Given the description of an element on the screen output the (x, y) to click on. 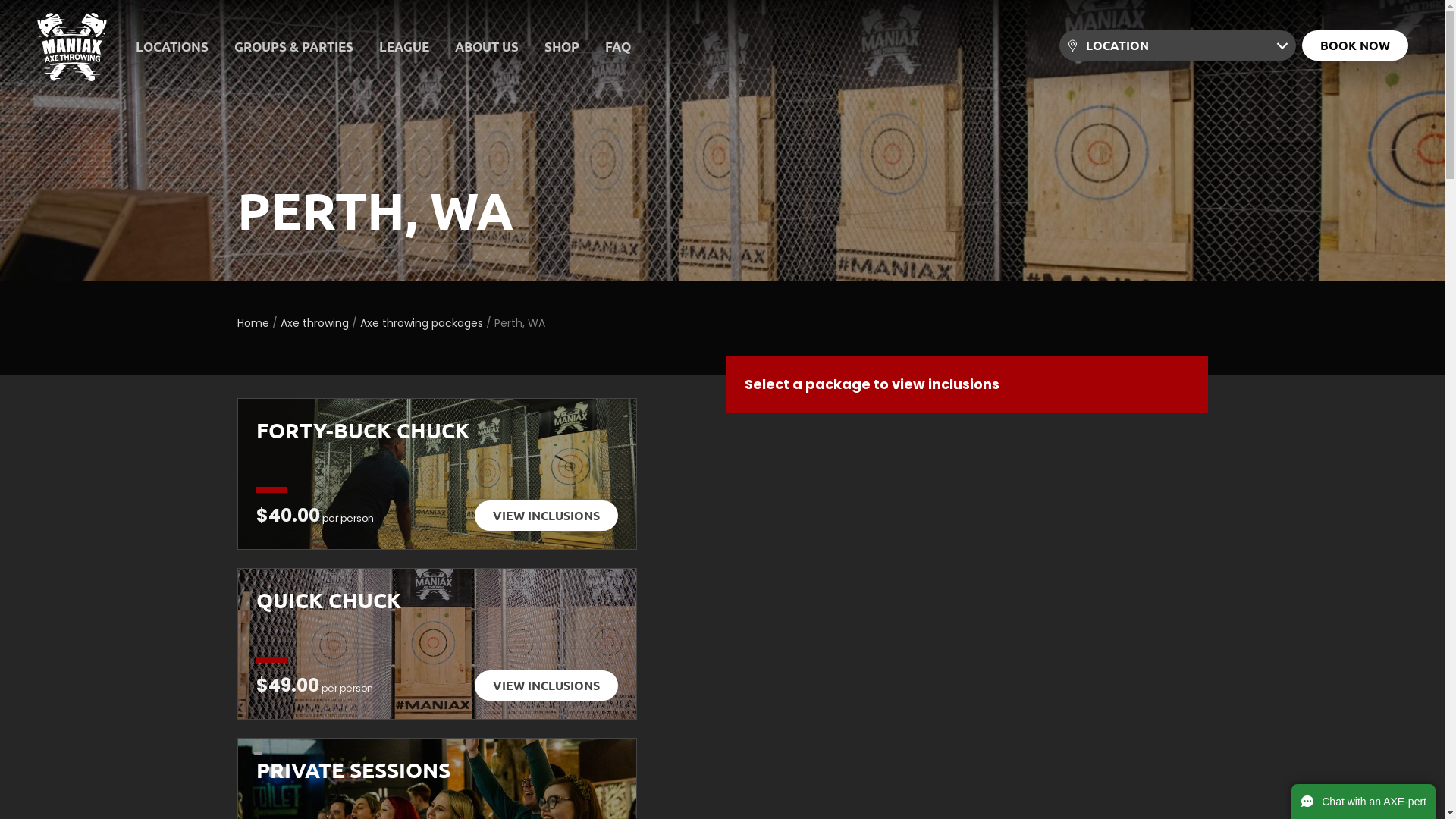
LEAGUE Element type: text (404, 46)
VIEW
QUICK CHUCK
INCLUSIONS Element type: text (546, 685)
Axe throwing Element type: text (314, 322)
GROUPS & PARTIES Element type: text (293, 46)
VIEW
FORTY-BUCK CHUCK
INCLUSIONS Element type: text (546, 515)
LOCATIONS Element type: text (171, 46)
Home Element type: text (252, 322)
Axe throwing packages Element type: text (420, 322)
ABOUT US Element type: text (486, 46)
SHOP Element type: text (561, 46)
FAQ Element type: text (617, 46)
BOOK NOW Element type: text (1355, 45)
